Given the description of an element on the screen output the (x, y) to click on. 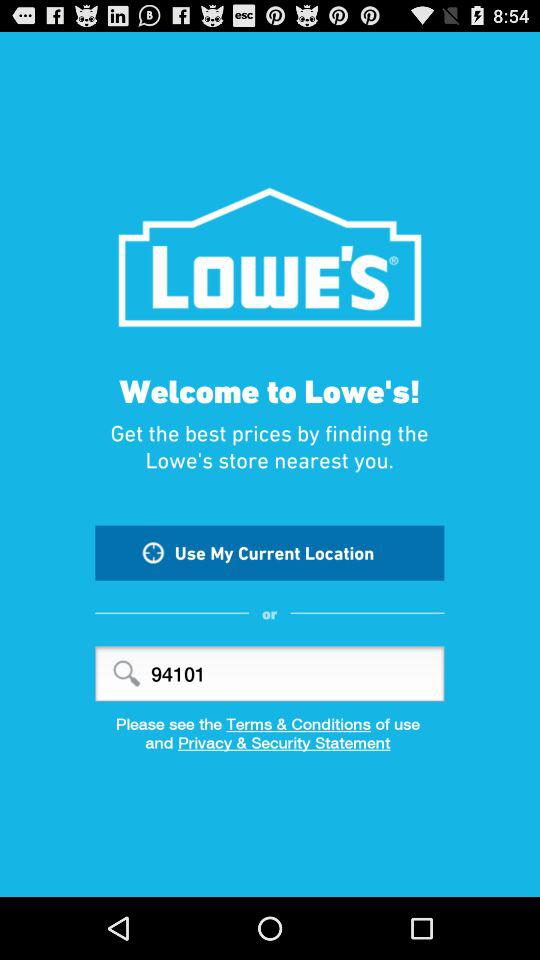
turn on the item below the please see the (270, 749)
